Given the description of an element on the screen output the (x, y) to click on. 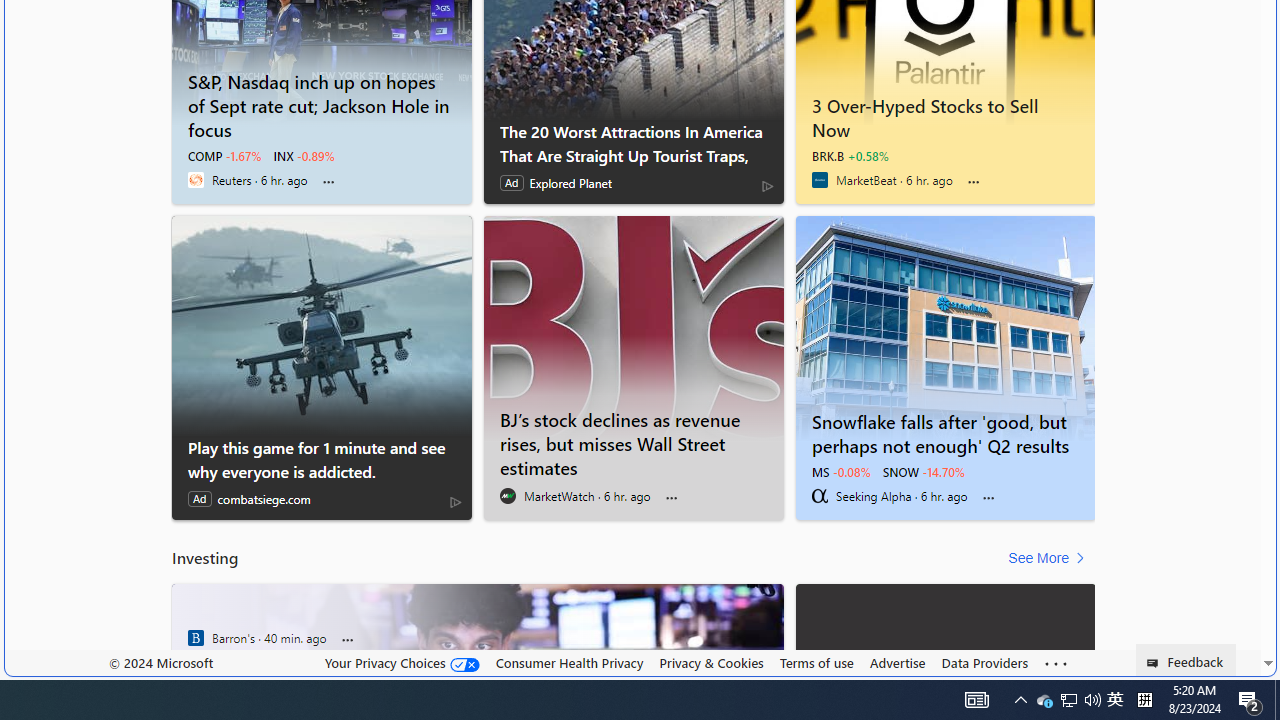
Data Providers (983, 662)
AdChoices (456, 502)
Seeking Alpha (819, 495)
COMP -1.67% (225, 156)
